Given the description of an element on the screen output the (x, y) to click on. 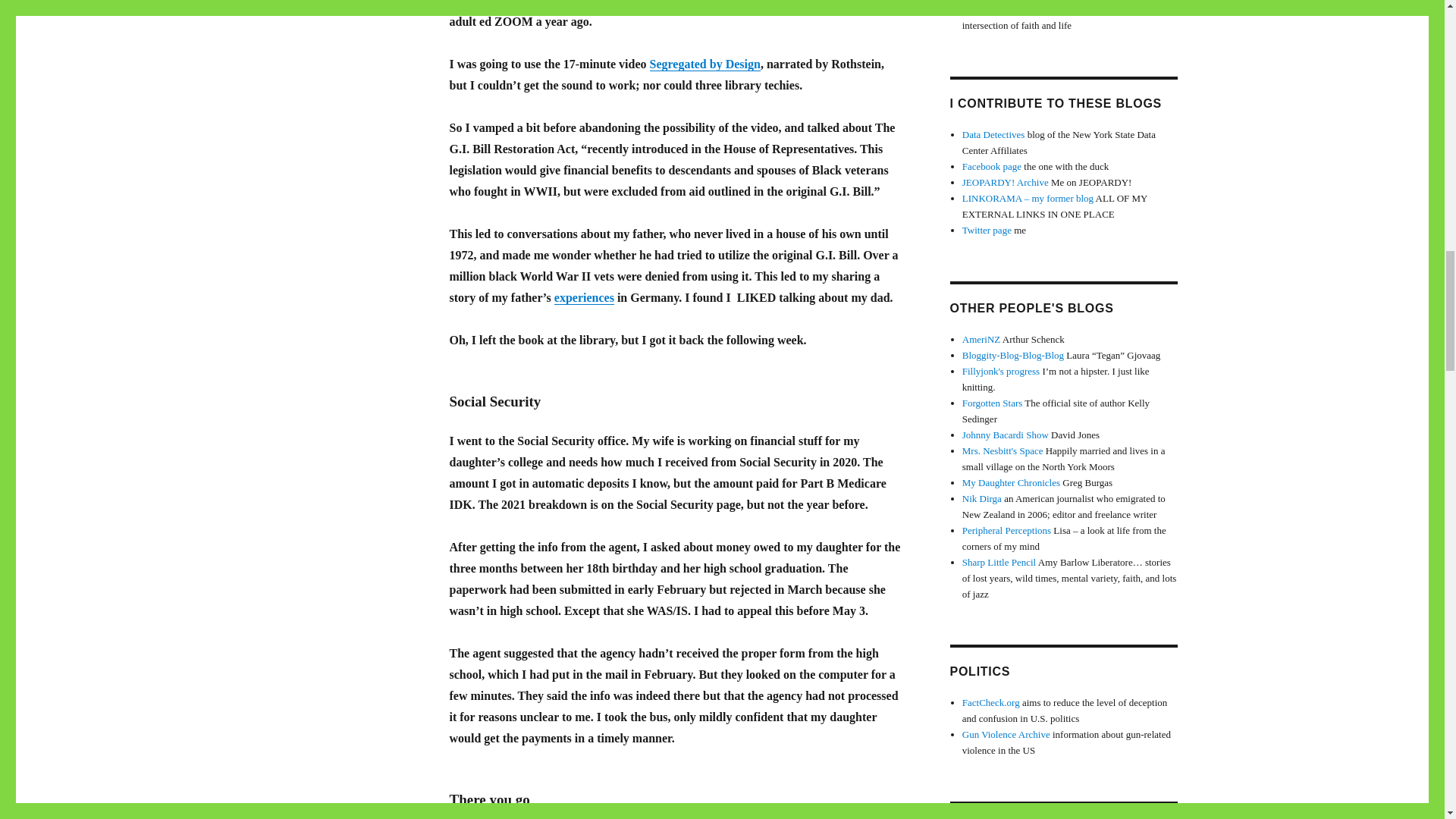
experiences (584, 297)
The Color of Law (550, 3)
Segregated by Design (704, 63)
